Given the description of an element on the screen output the (x, y) to click on. 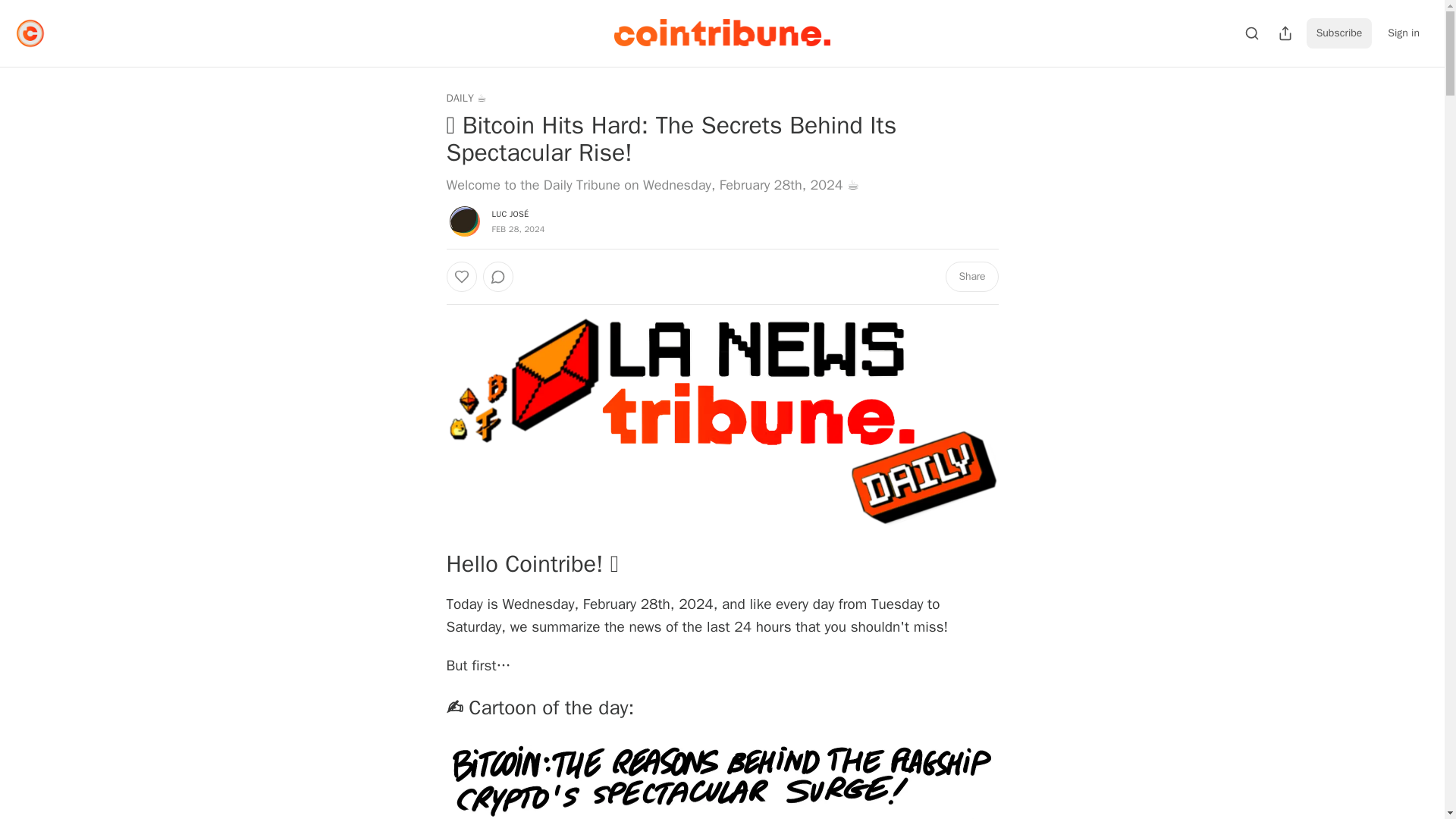
Share (970, 276)
Sign in (1403, 33)
Subscribe (1339, 33)
